Given the description of an element on the screen output the (x, y) to click on. 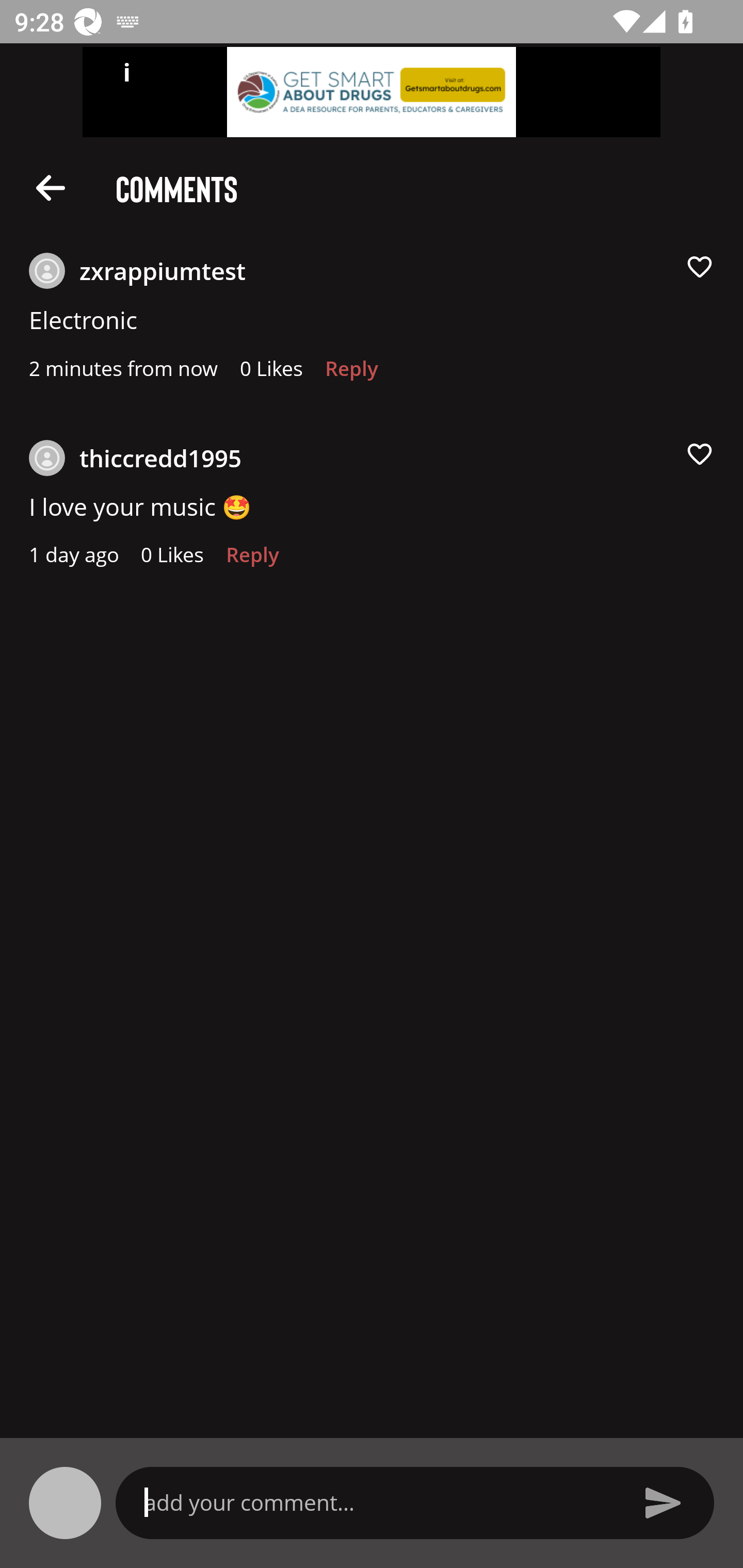
Description (50, 187)
Reply (351, 372)
Reply (252, 559)
add your comment… (378, 1502)
